Given the description of an element on the screen output the (x, y) to click on. 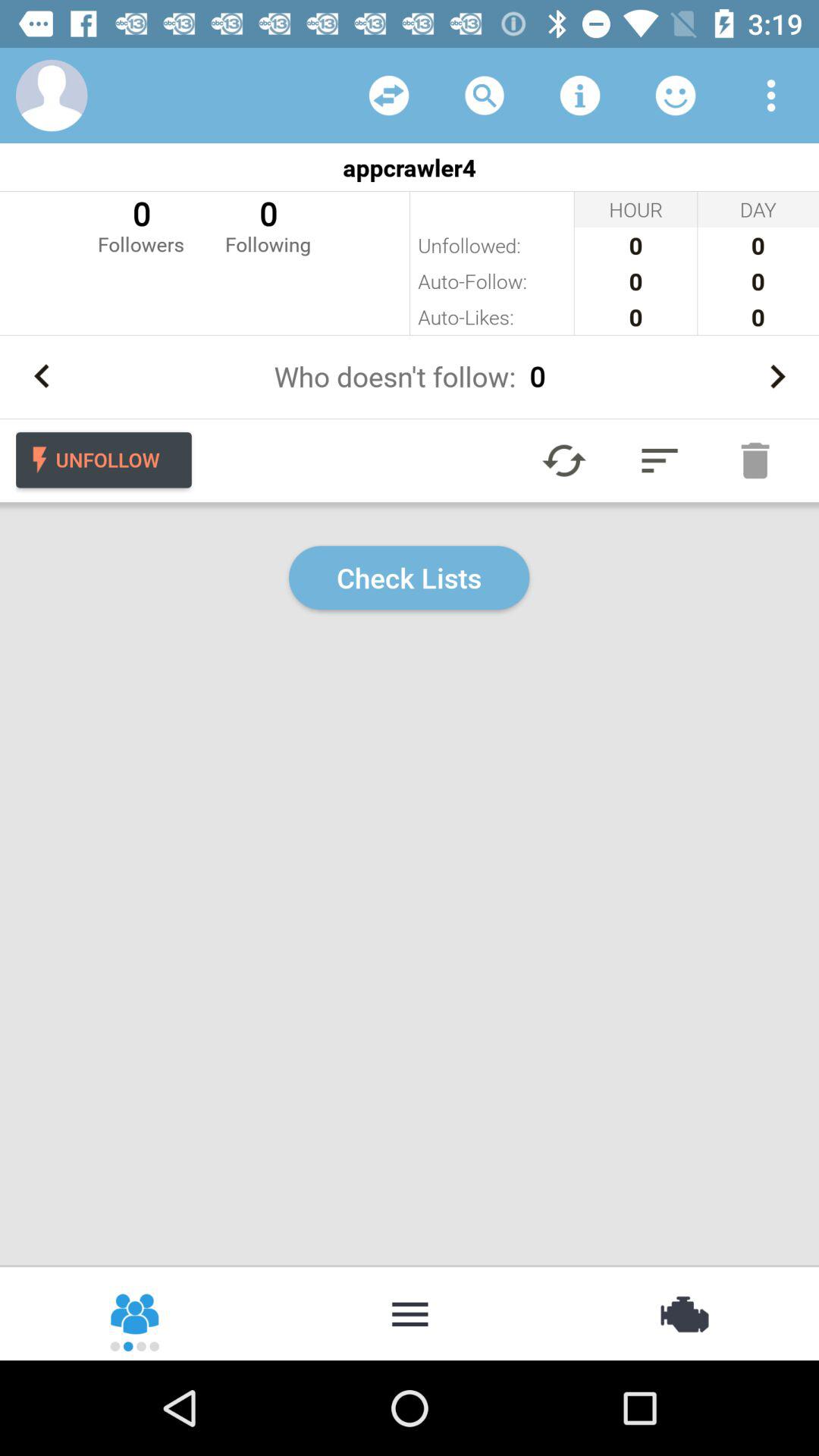
click icon next to 0
following item (140, 224)
